Given the description of an element on the screen output the (x, y) to click on. 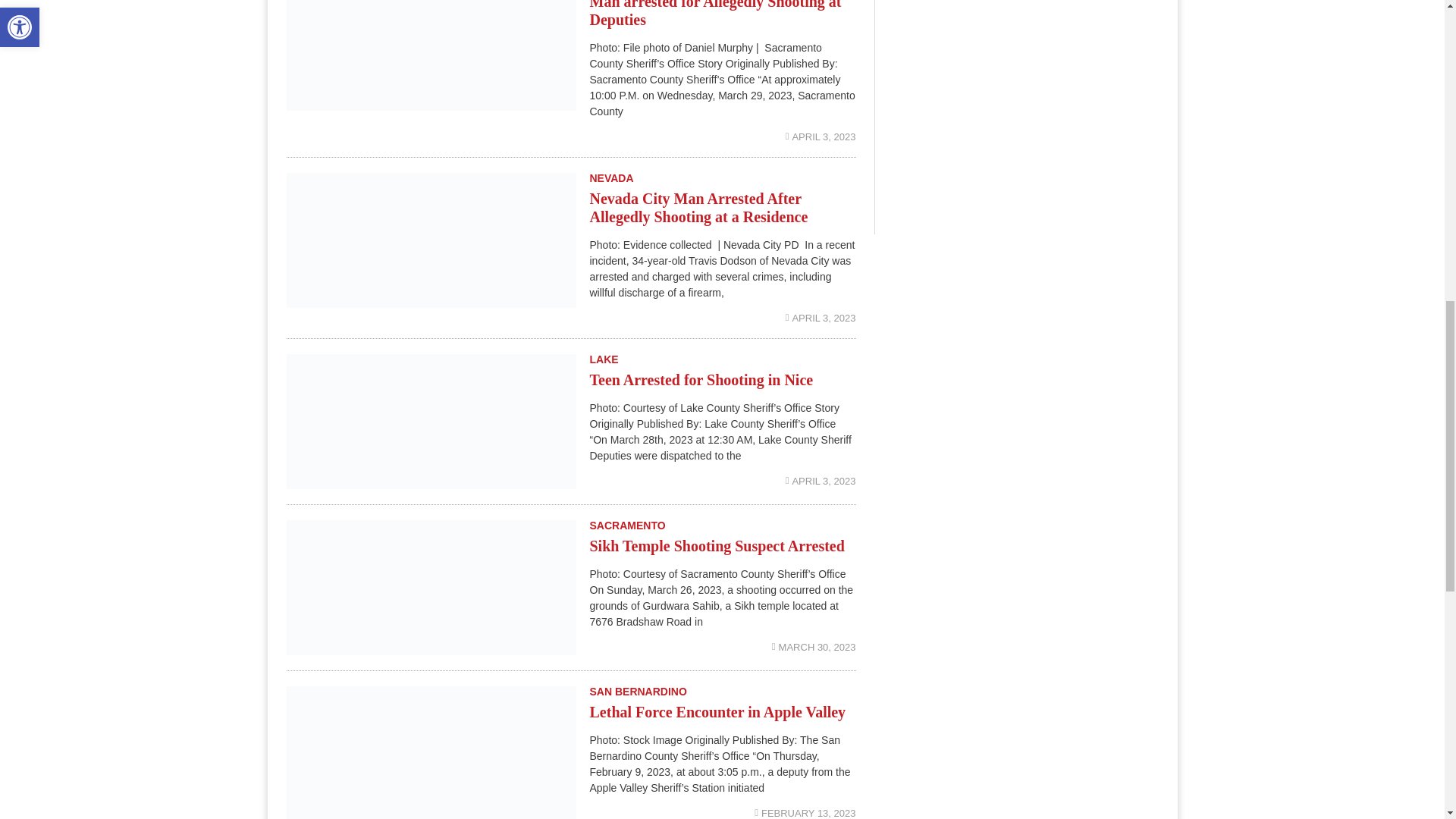
LAKE (603, 358)
Man arrested for Allegedly Shooting at Deputies (715, 13)
Teen Arrested for Shooting in Nice (701, 379)
NEVADA (611, 177)
APRIL 3, 2023 (821, 480)
APRIL 3, 2023 (821, 136)
APRIL 3, 2023 (821, 317)
